Given the description of an element on the screen output the (x, y) to click on. 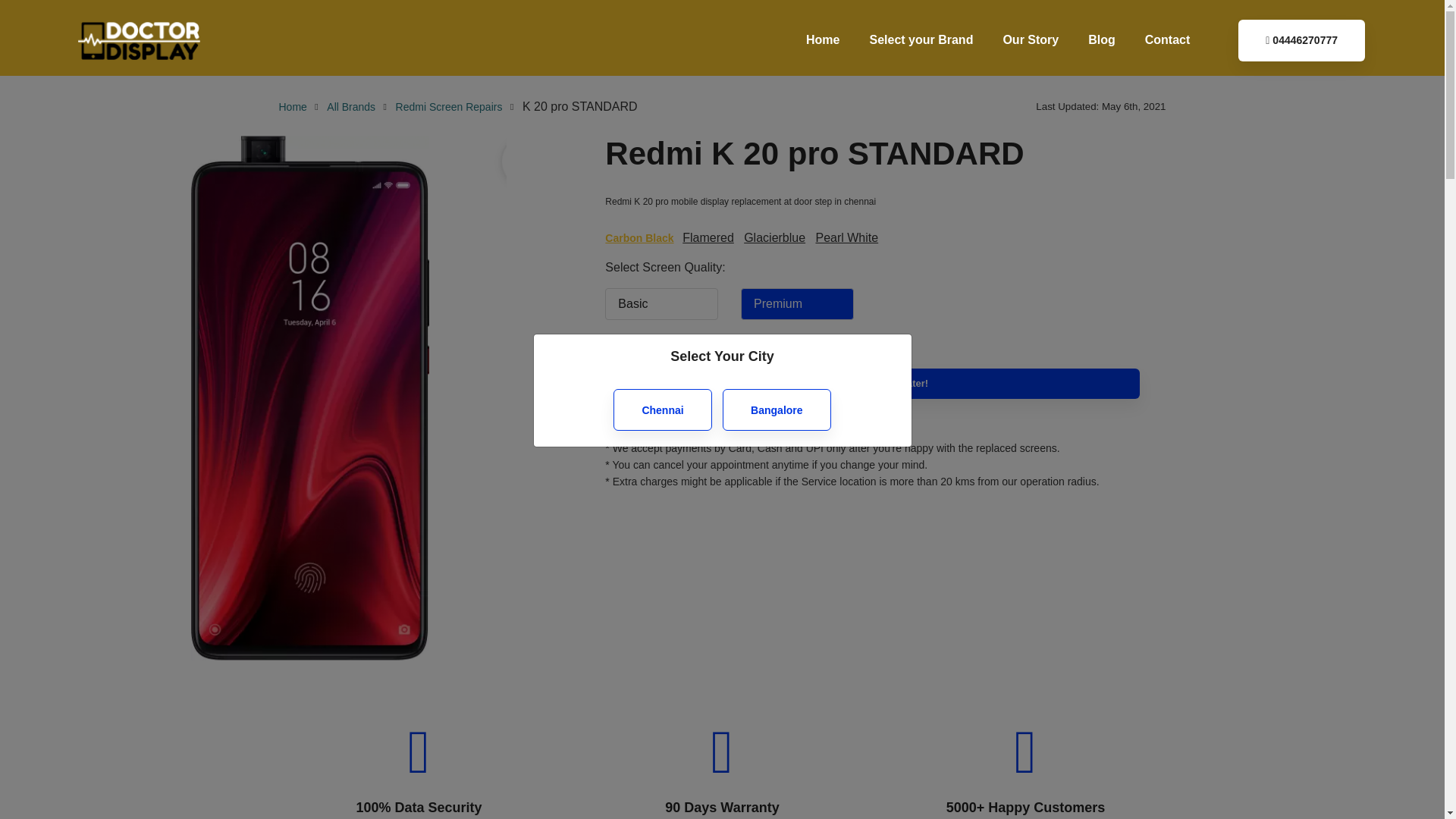
All Brands (350, 106)
Select your Brand (920, 39)
Our Story (1030, 39)
Home (293, 106)
Premium (797, 304)
Pearl White (846, 243)
Carbon Black (638, 238)
 04446270777 (1302, 40)
See the difference between Basic and Premium Screens? (734, 411)
Redmi Screen Repairs (449, 106)
Chennai (661, 409)
Bangalore (775, 409)
Flamered (707, 243)
Basic (661, 304)
Glacierblue (774, 243)
